Given the description of an element on the screen output the (x, y) to click on. 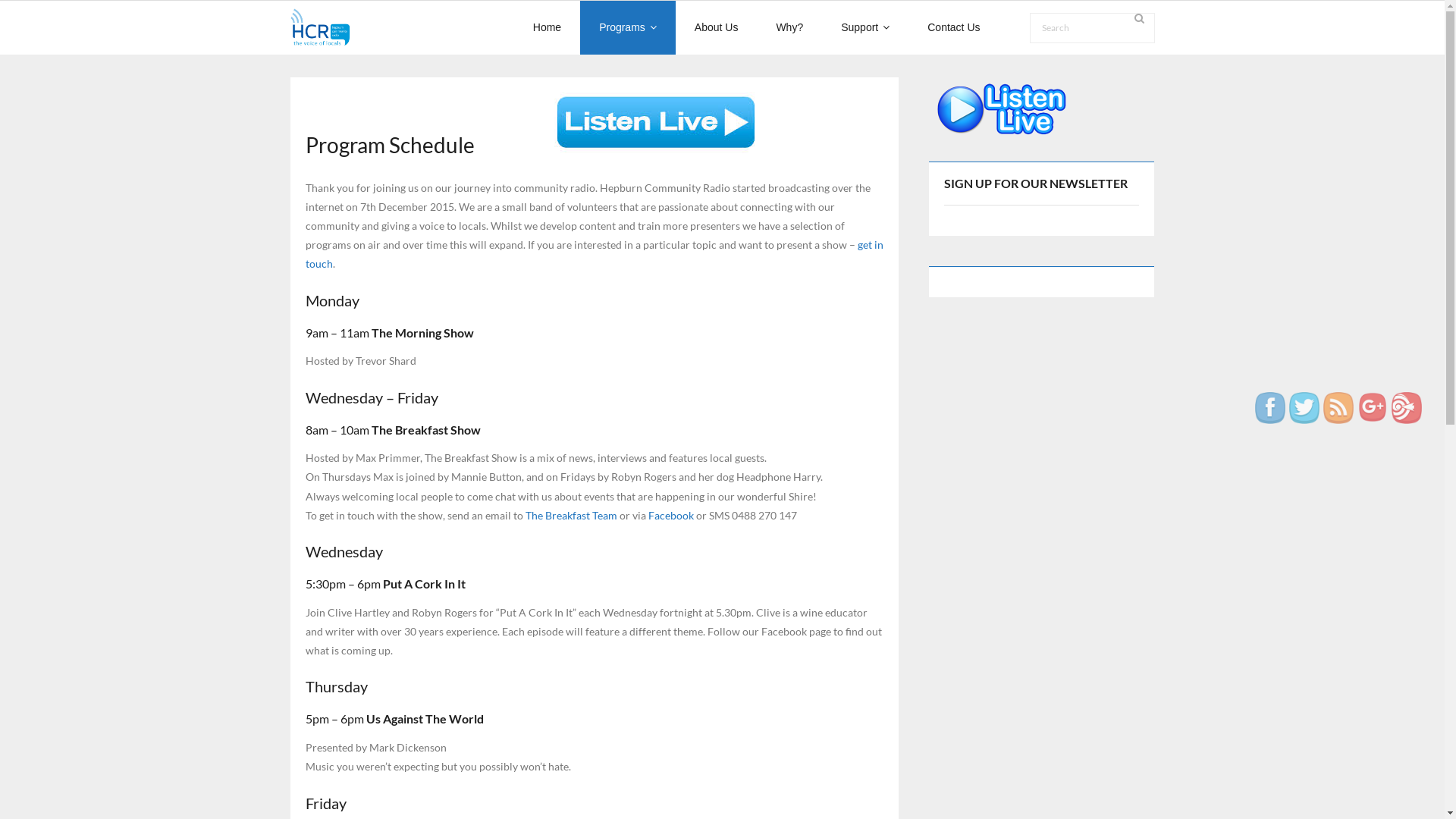
Follow by Email Element type: hover (1406, 407)
Programs Element type: text (627, 27)
Google+ Element type: hover (1372, 406)
Why? Element type: text (789, 27)
Facebook Element type: text (670, 514)
Home Element type: text (547, 27)
Twitter Element type: hover (1304, 407)
get in touch Element type: text (593, 253)
Search Element type: text (32, 15)
Support Element type: text (865, 27)
About Us Element type: text (716, 27)
Facebook Element type: hover (1270, 407)
RSS Element type: hover (1338, 407)
Contact Us Element type: text (953, 27)
The Breakfast Team Element type: text (570, 514)
